Given the description of an element on the screen output the (x, y) to click on. 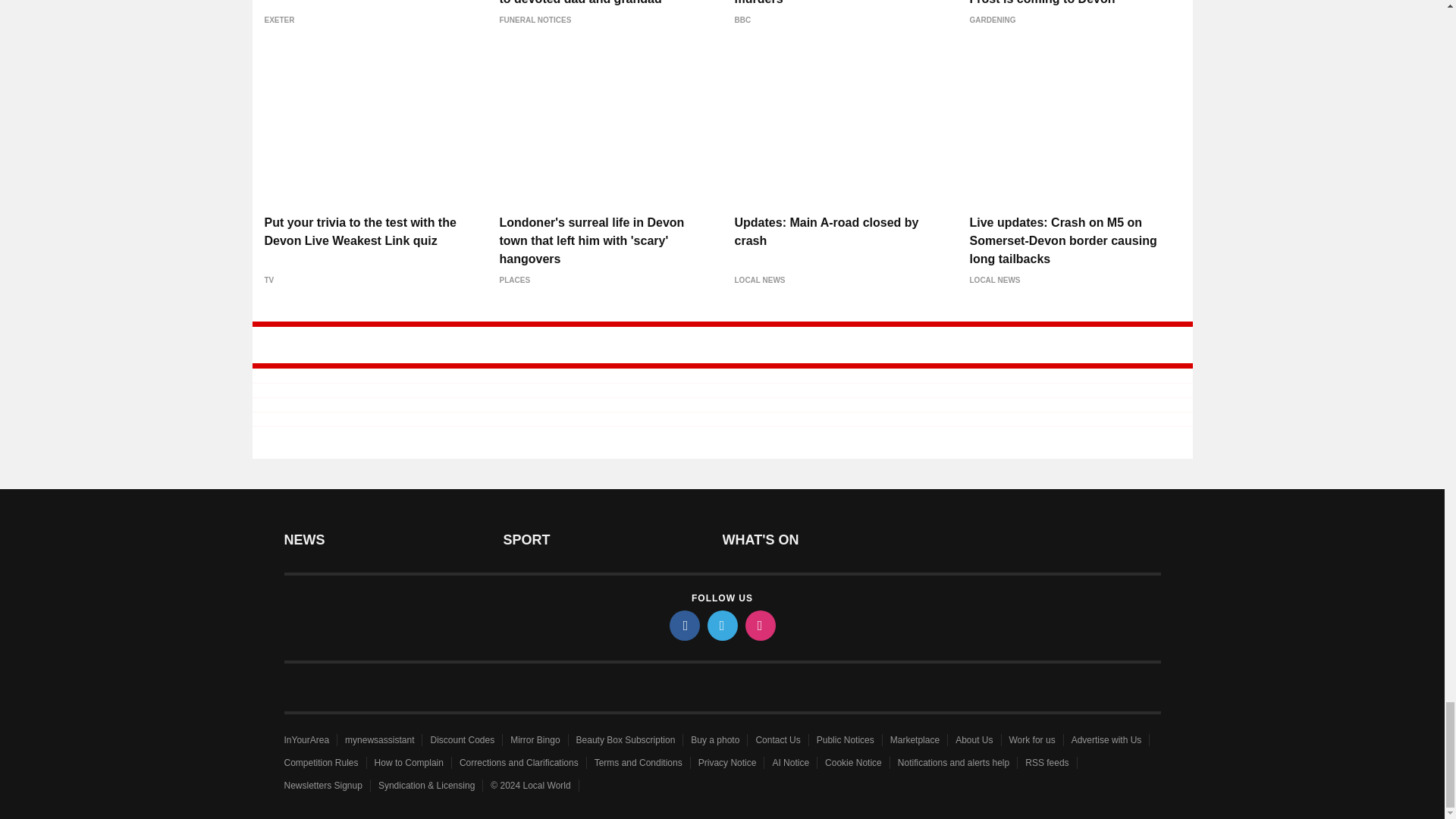
twitter (721, 625)
instagram (759, 625)
facebook (683, 625)
